Given the description of an element on the screen output the (x, y) to click on. 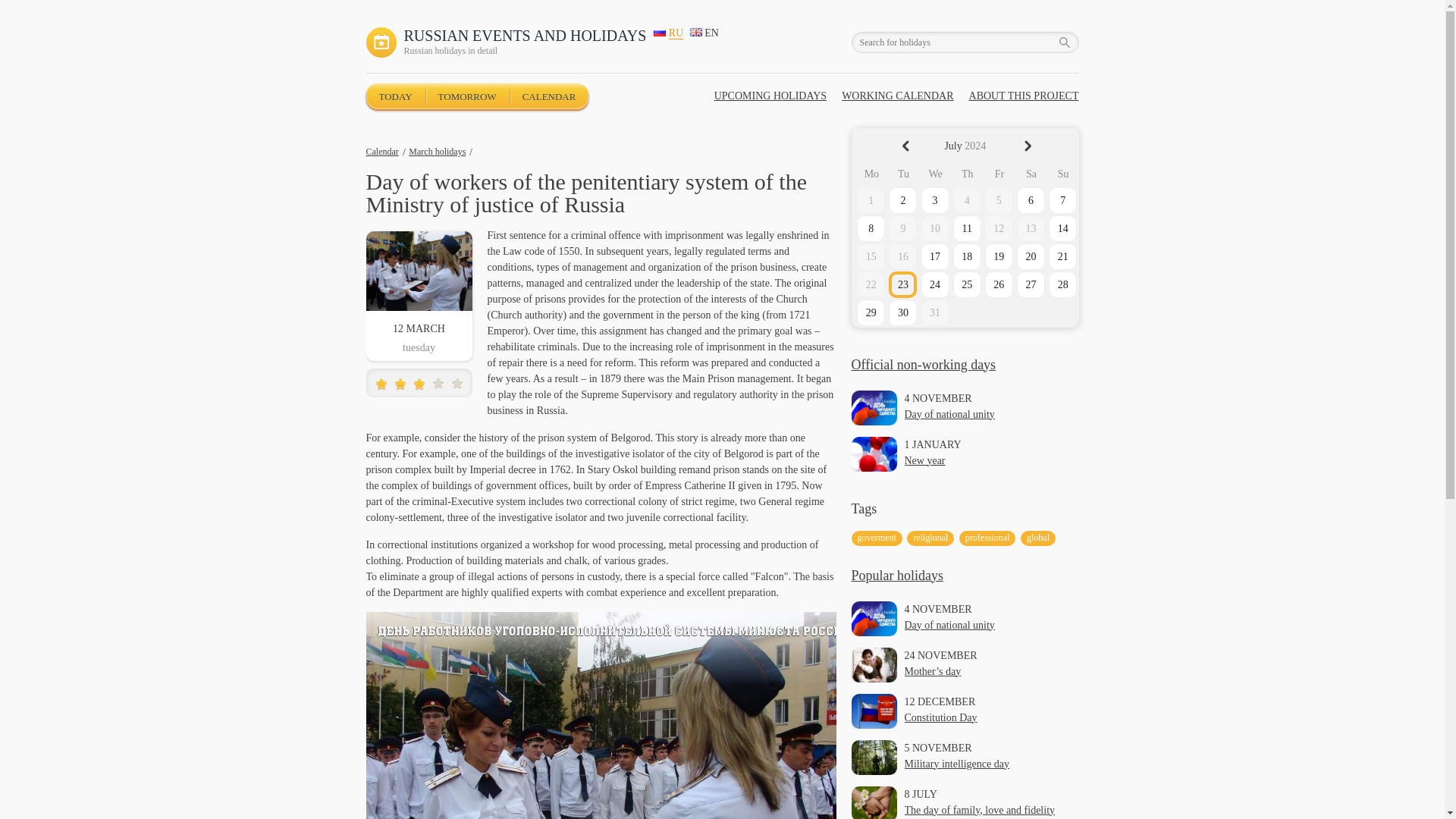
14 (1062, 228)
7 (1062, 200)
5 (418, 384)
TODAY (395, 95)
18 (967, 256)
3 (399, 384)
ABOUT THIS PROJECT (1023, 95)
2 (390, 384)
12 MARCH (419, 328)
WORKING CALENDAR (897, 95)
CALENDAR (549, 95)
tuesday (903, 173)
3 (935, 200)
wednesday (935, 173)
